Given the description of an element on the screen output the (x, y) to click on. 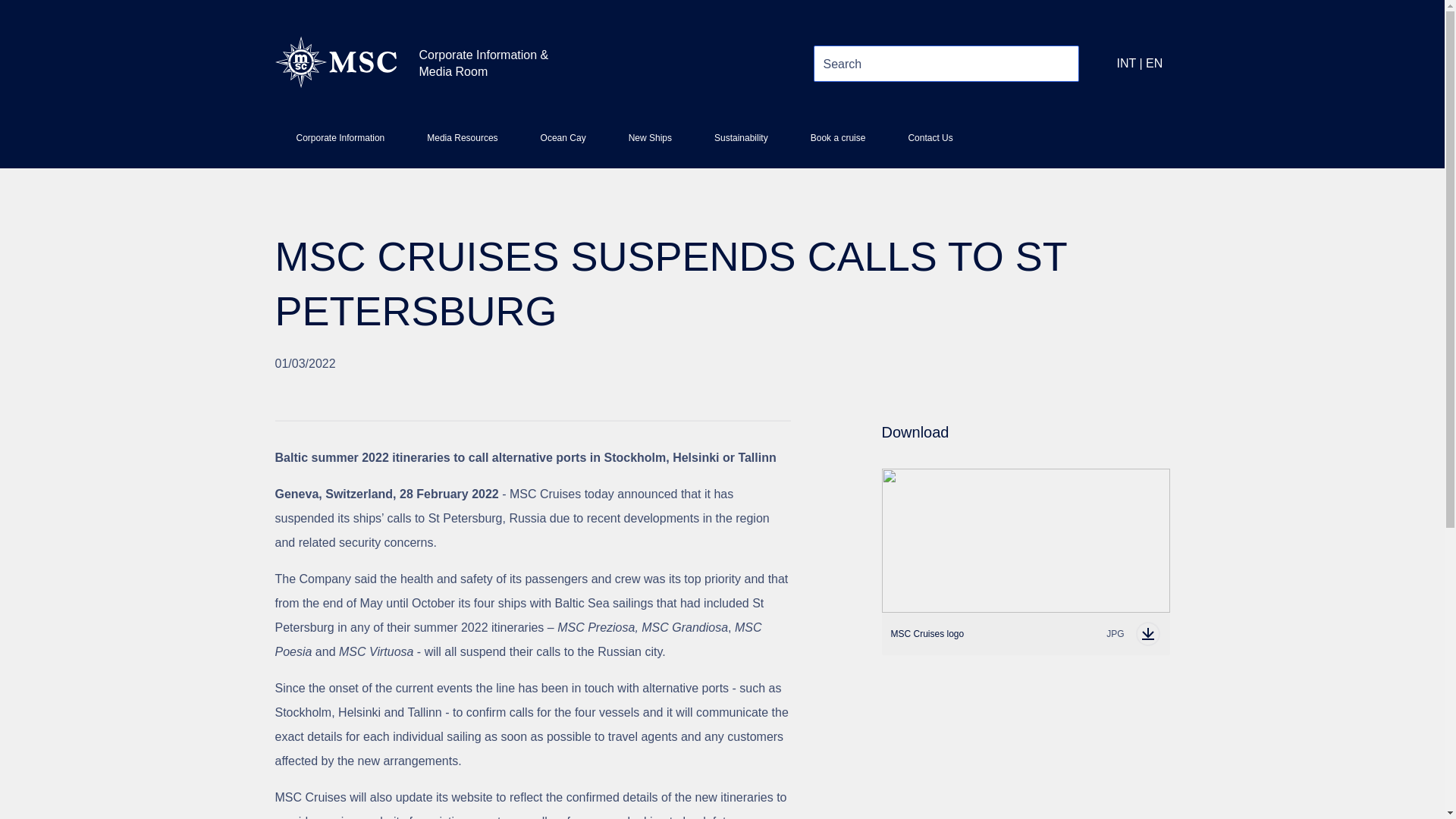
New Ships (650, 143)
Contact Us (930, 143)
Corporate Information (340, 143)
Ocean Cay (563, 143)
Media Resources (1024, 633)
Book a cruise (462, 143)
Sustainability (837, 143)
